Given the description of an element on the screen output the (x, y) to click on. 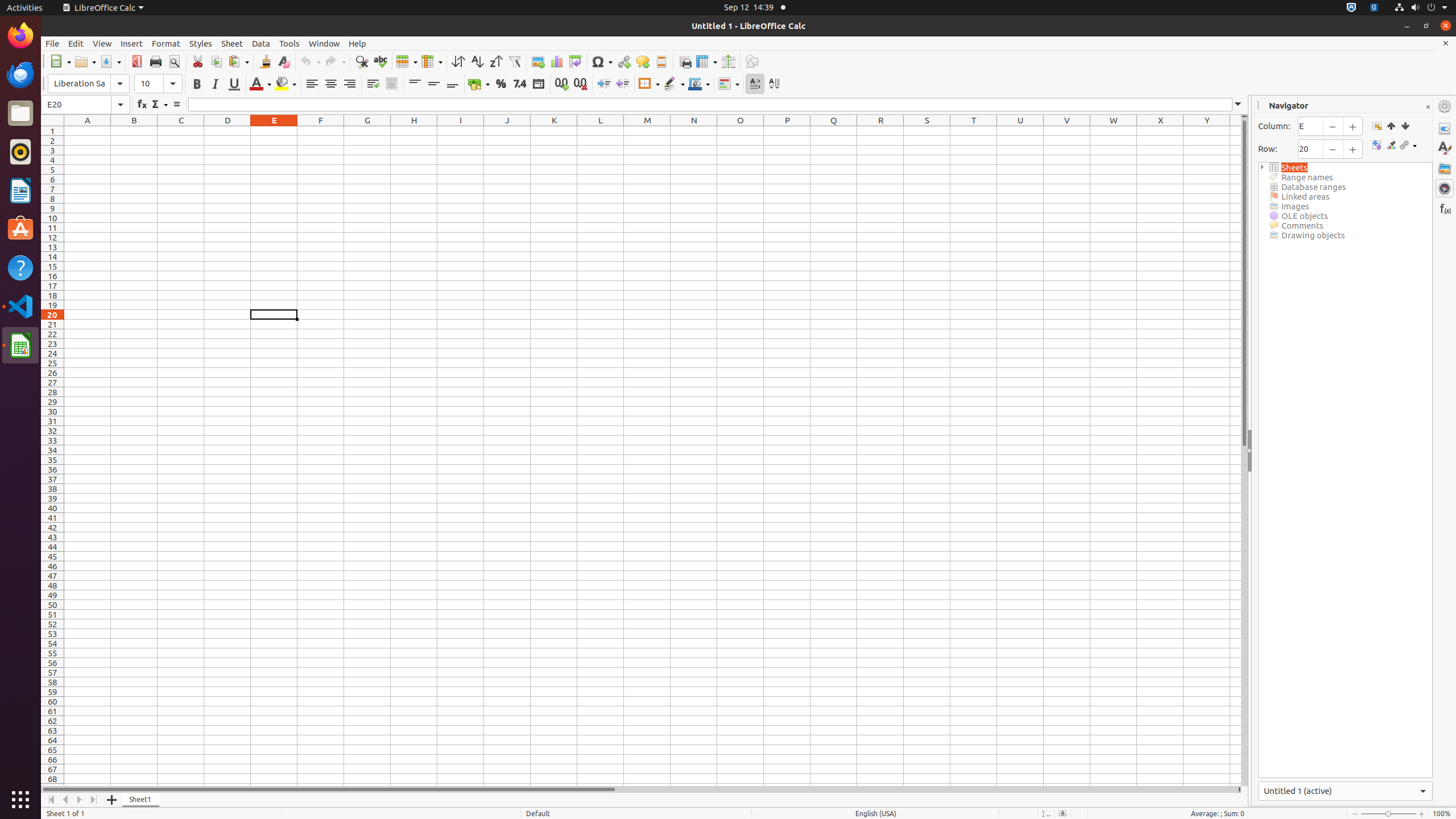
Move Right Element type: push-button (79, 799)
LibreOffice Calc Element type: menu (102, 7)
Paste Element type: push-button (237, 61)
Align Center Element type: push-button (330, 83)
